Given the description of an element on the screen output the (x, y) to click on. 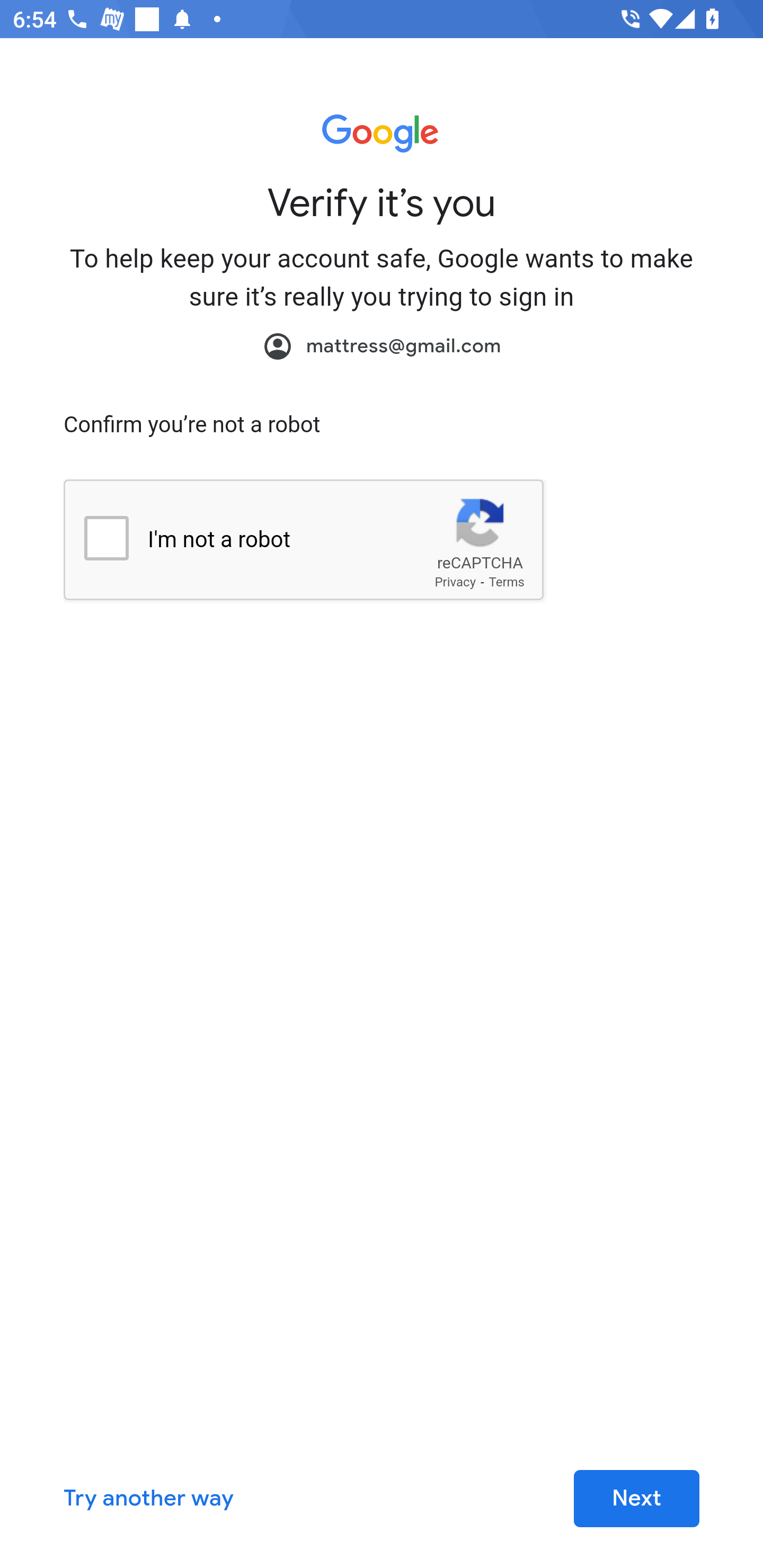
I'm not a robot (105, 537)
Privacy (455, 581)
Terms (506, 581)
Try another way (148, 1498)
Next (635, 1498)
